Given the description of an element on the screen output the (x, y) to click on. 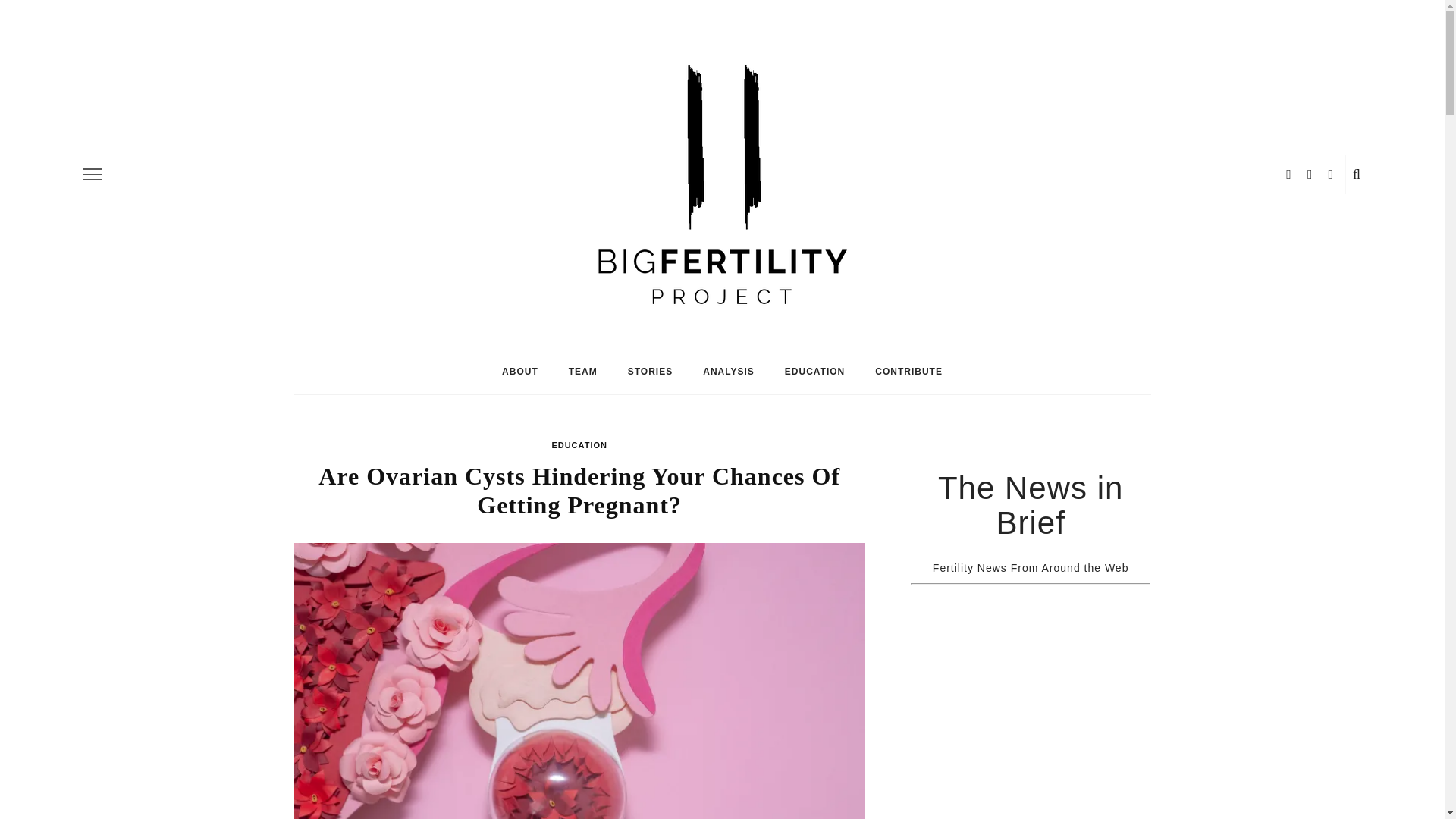
off canvas button (91, 174)
TEAM (582, 370)
EDUCATION (815, 370)
Facebook (1112, 12)
Twitter (1124, 12)
STORIES (649, 370)
ANALYSIS (728, 370)
EDUCATION (579, 444)
ABOUT (519, 370)
CONTRIBUTE (909, 370)
